Given the description of an element on the screen output the (x, y) to click on. 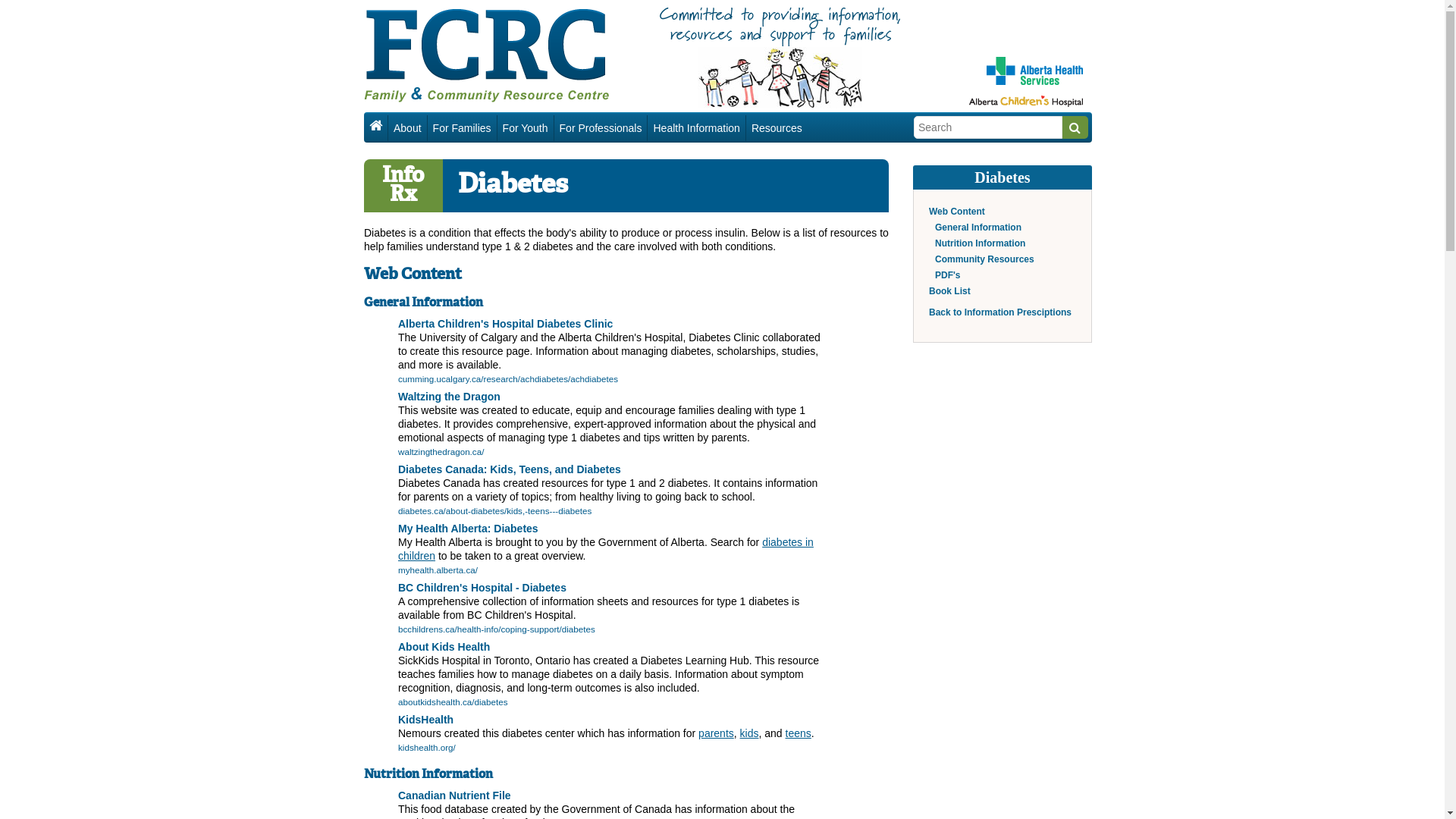
teens Element type: text (798, 733)
bcchildrens.ca/health-info/coping-support/diabetes Element type: text (496, 628)
diabetes.ca/about-diabetes/kids,-teens---diabetes Element type: text (494, 510)
parents Element type: text (716, 733)
diabetes in children Element type: text (605, 548)
KidsHealth Element type: text (425, 719)
Waltzing the Dragon Element type: text (449, 396)
Diabetes Canada: Kids, Teens, and Diabetes Element type: text (509, 469)
Web Content Element type: text (956, 211)
My Health Alberta: Diabetes Element type: text (468, 528)
Canadian Nutrient File Element type: text (454, 795)
BC Children's Hospital - Diabetes Element type: text (482, 587)
Alberta Children's Hospital Diabetes Clinic Element type: text (505, 323)
myhealth.alberta.ca/ Element type: text (437, 569)
waltzingthedragon.ca/ Element type: text (440, 451)
aboutkidshealth.ca/diabetes Element type: text (453, 701)
Diabetes Element type: text (1001, 177)
cumming.ucalgary.ca/research/achdiabetes/achdiabetes Element type: text (508, 378)
About Kids Health Element type: text (443, 646)
Nutrition Information Element type: text (980, 243)
kids Element type: text (749, 733)
Community Resources Element type: text (984, 259)
Book List Element type: text (949, 290)
General Information Element type: text (978, 227)
kidshealth.org/ Element type: text (426, 747)
Back to Information Presciptions Element type: text (999, 312)
PDF's Element type: text (947, 274)
